Given the description of an element on the screen output the (x, y) to click on. 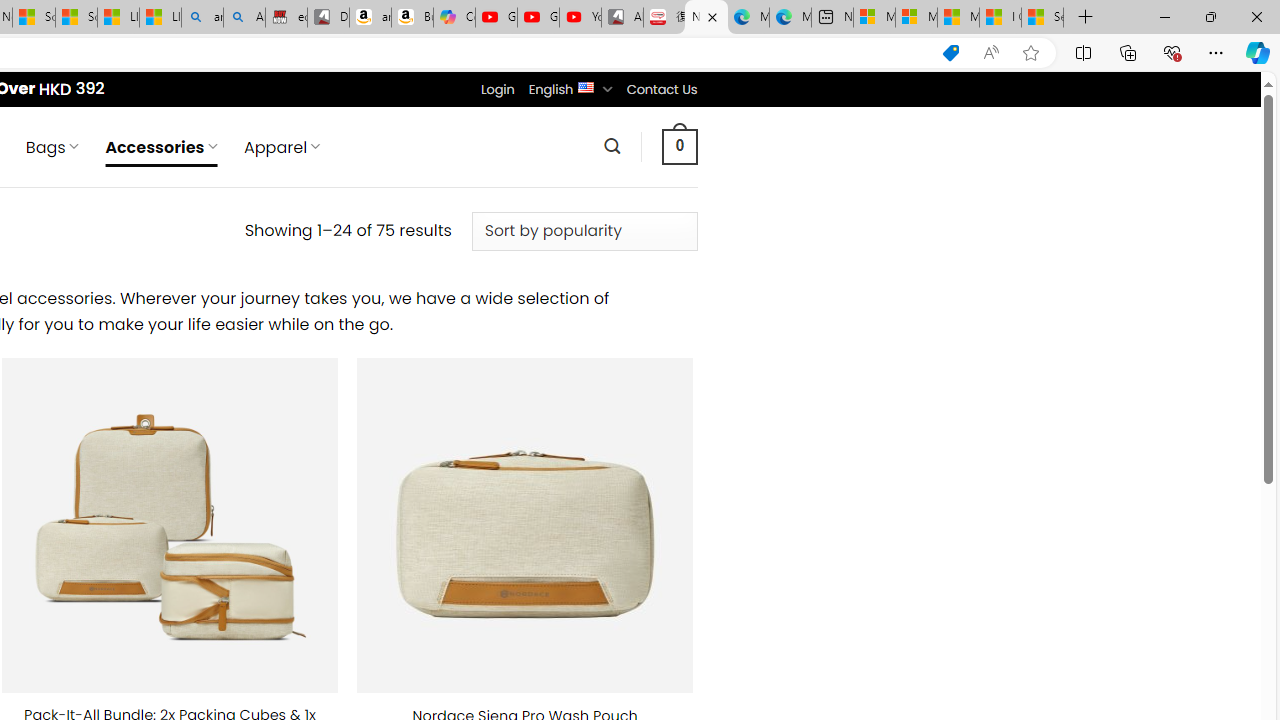
This site has coupons! Shopping in Microsoft Edge (950, 53)
English (586, 86)
Contact Us (661, 89)
Copilot (453, 17)
Nordace - Accessories (706, 17)
Gloom - YouTube (538, 17)
